Given the description of an element on the screen output the (x, y) to click on. 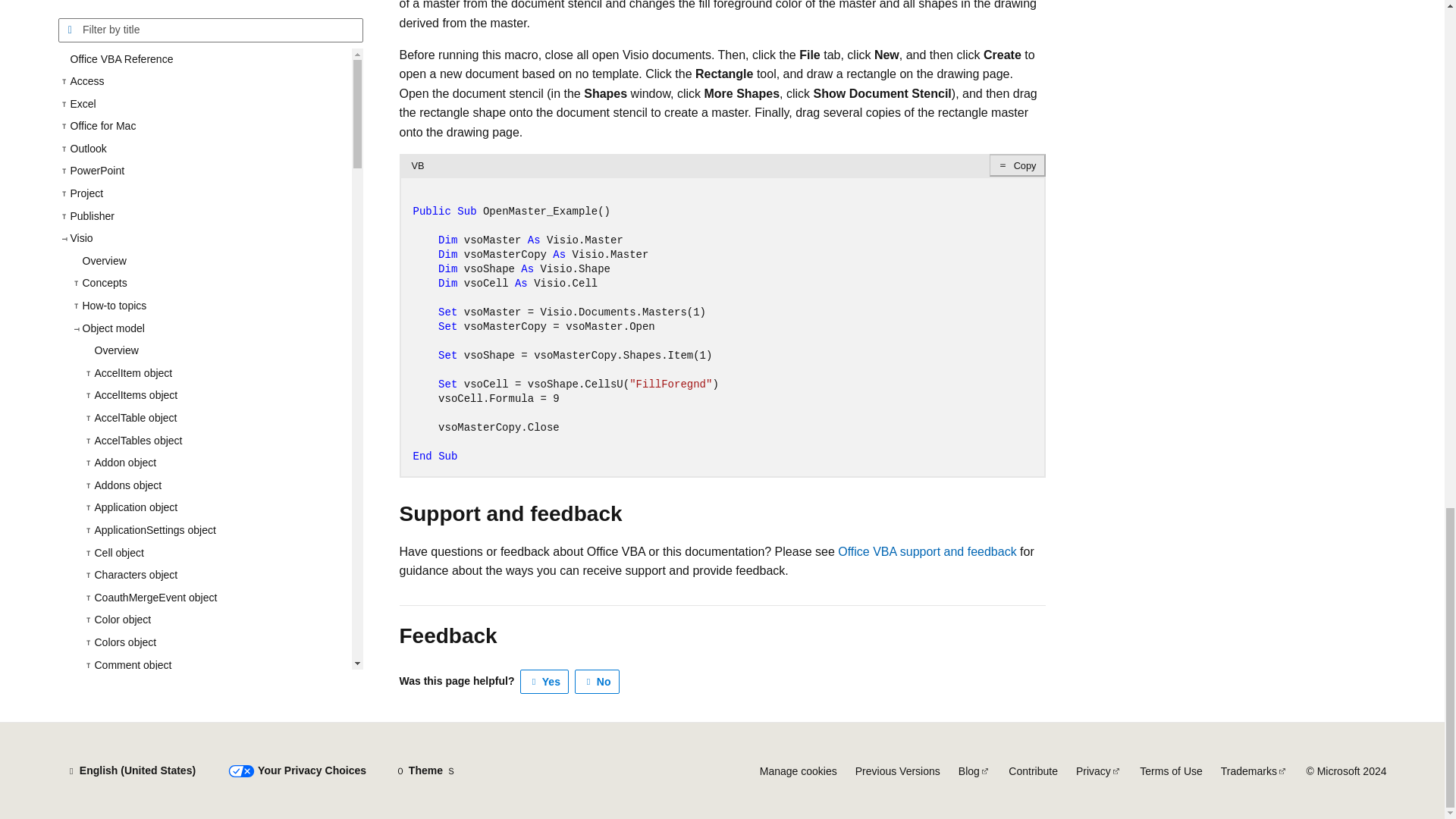
This article is helpful (544, 681)
Theme (425, 770)
This article is not helpful (597, 681)
